Given the description of an element on the screen output the (x, y) to click on. 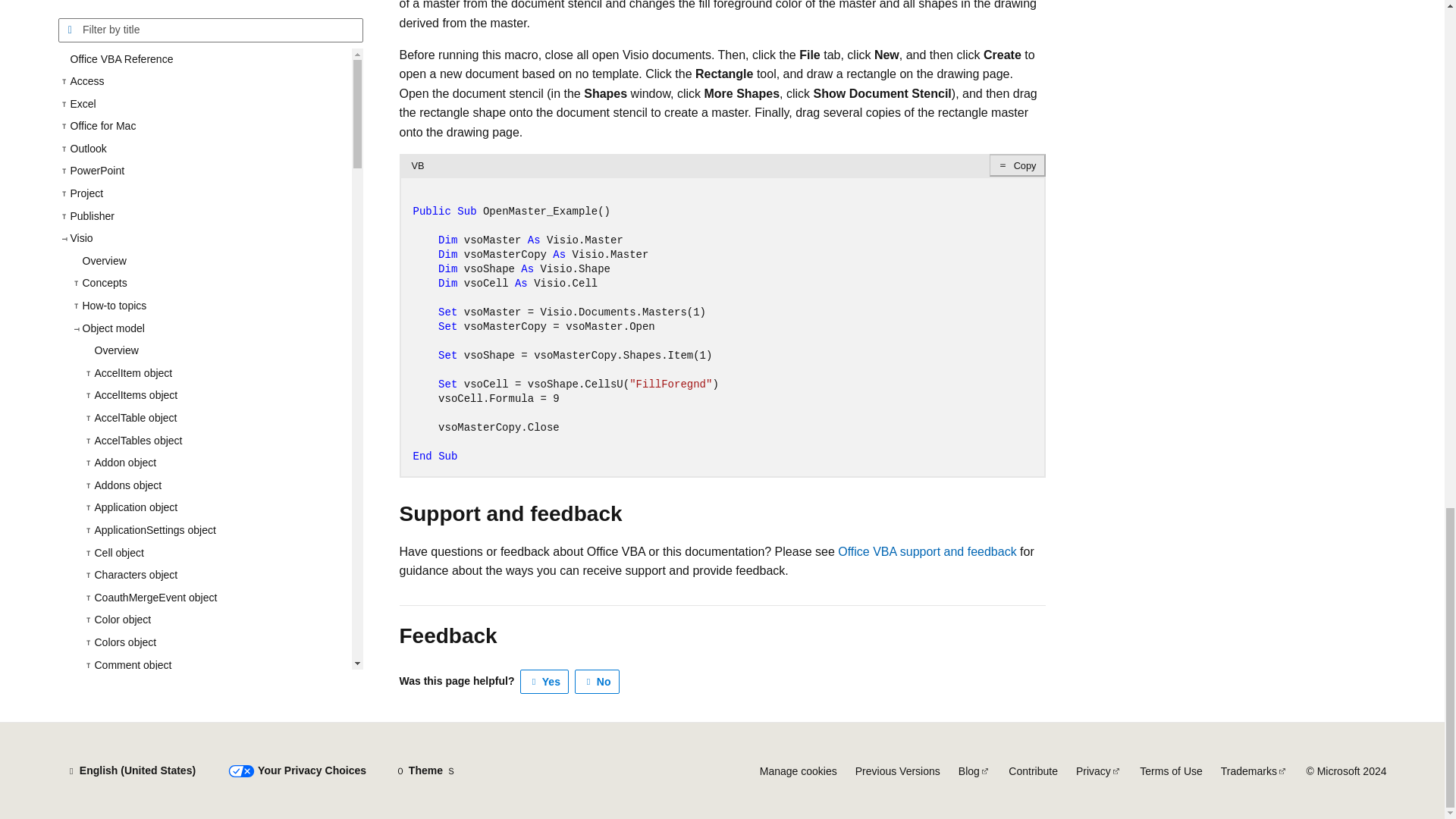
This article is helpful (544, 681)
Theme (425, 770)
This article is not helpful (597, 681)
